Given the description of an element on the screen output the (x, y) to click on. 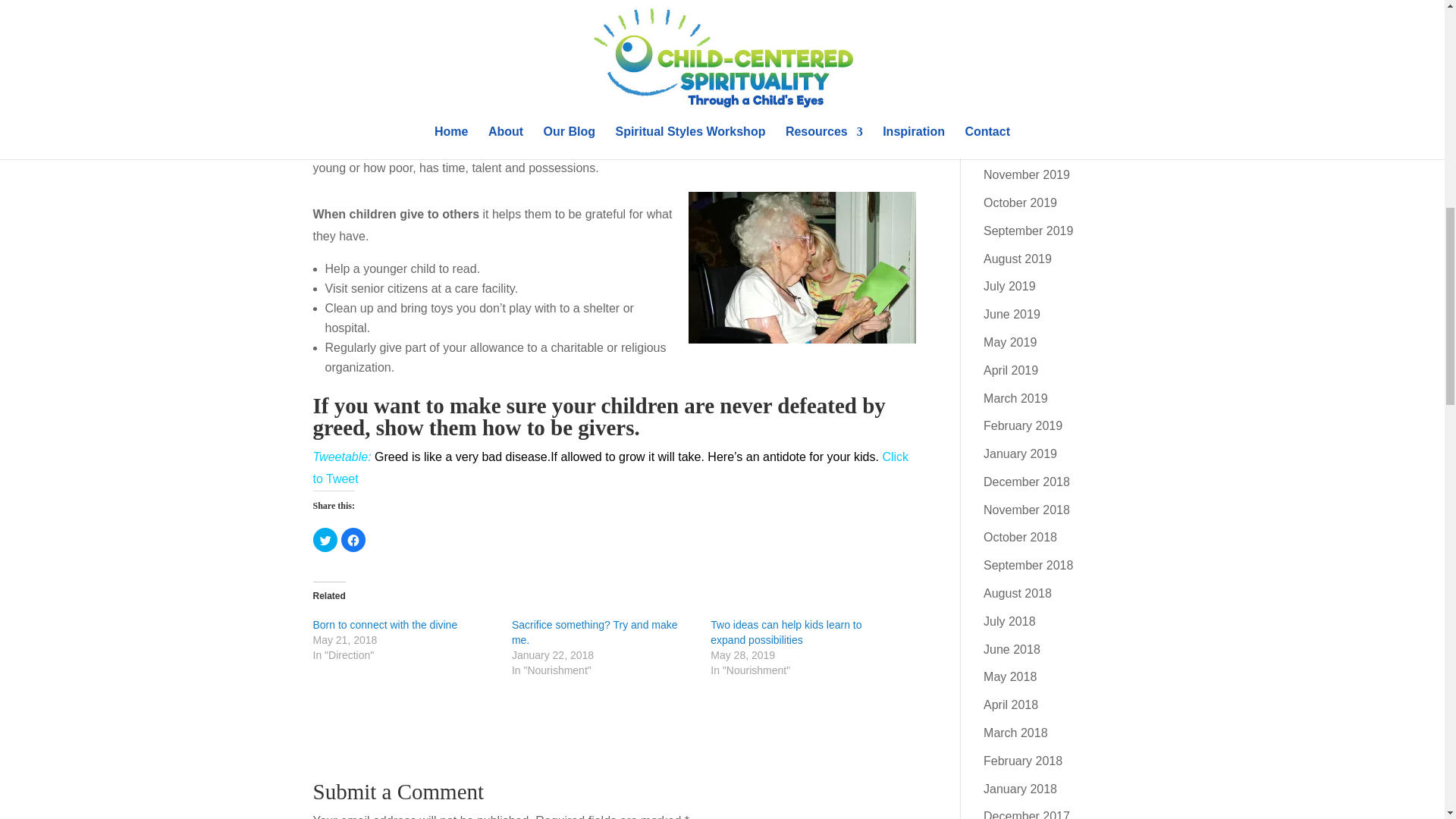
Click to share on Facebook (352, 539)
Born to connect with the divine (385, 624)
Born to connect with the divine (385, 624)
Click to share on Twitter (324, 539)
Sacrifice something? Try and make me. (595, 632)
Two ideas can help kids learn to expand possibilities (785, 632)
Two ideas can help kids learn to expand possibilities (785, 632)
Click to Tweet (610, 467)
Sacrifice something? Try and make me. (595, 632)
